Given the description of an element on the screen output the (x, y) to click on. 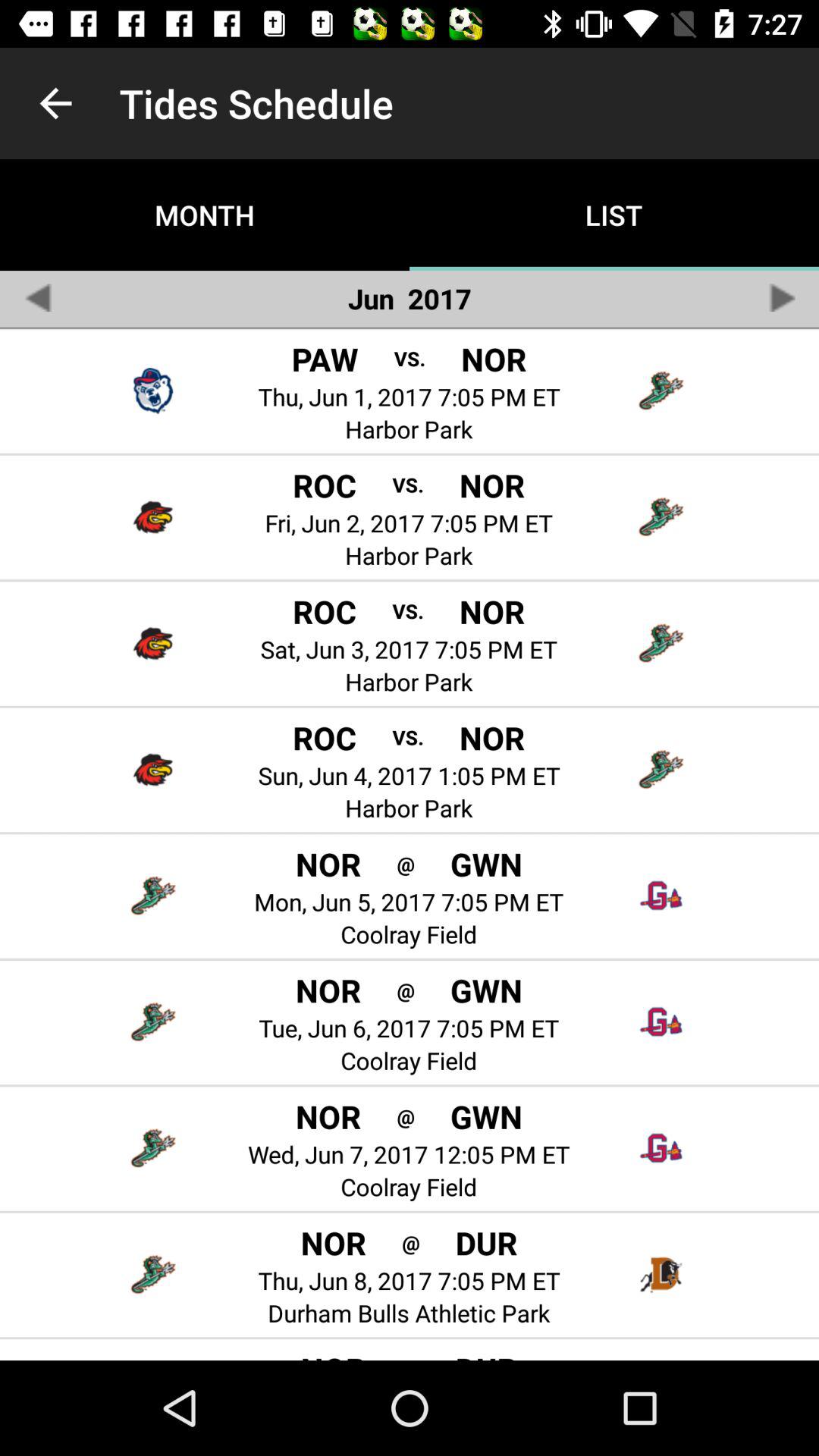
turn off app to the left of the dur app (410, 1357)
